Given the description of an element on the screen output the (x, y) to click on. 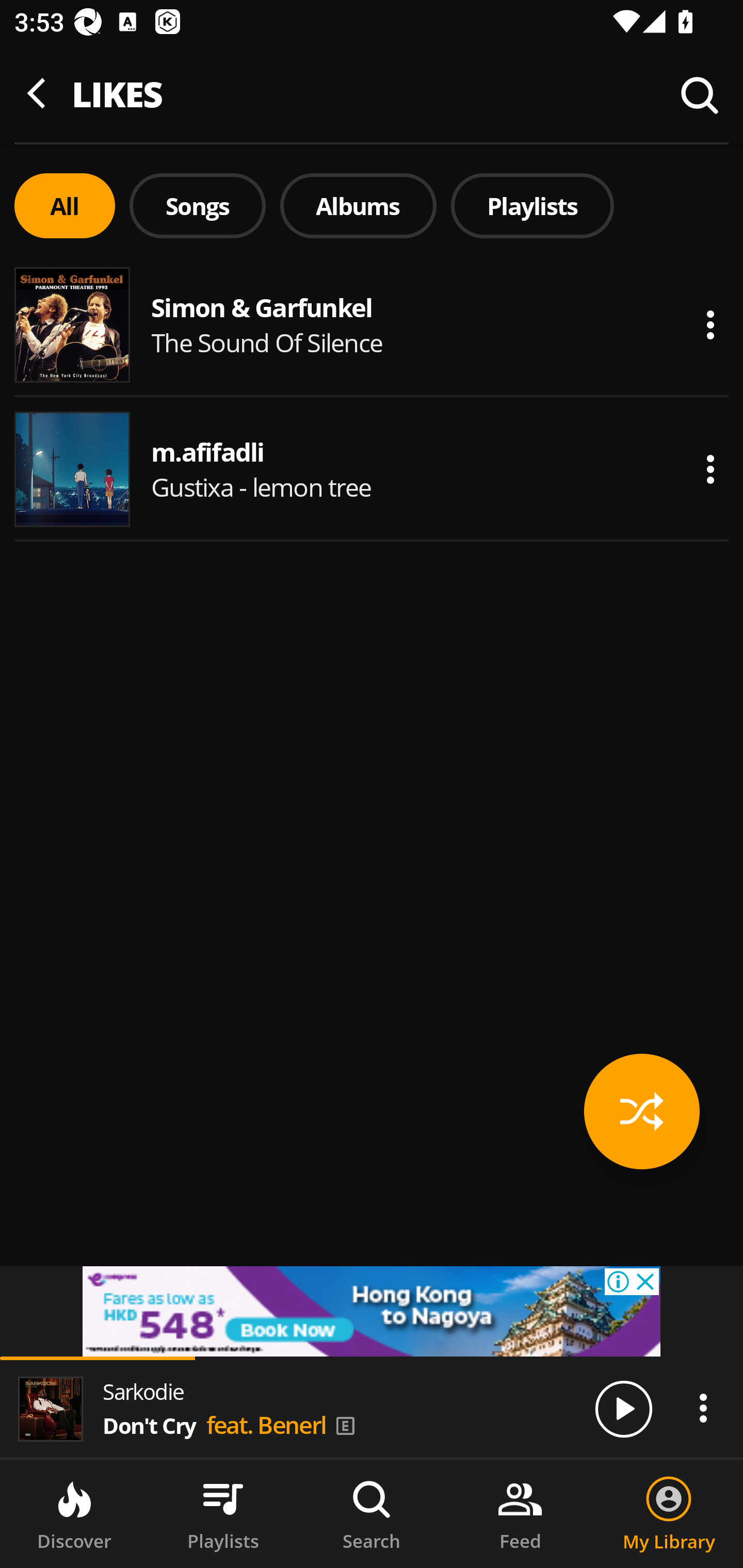
All (64, 206)
Songs (197, 206)
Albums (358, 206)
Playlists (532, 206)
Actions (710, 325)
Actions (710, 469)
accessibility_shuffle (641, 1111)
Advertisement (371, 1311)
Actions (703, 1407)
Play/Pause (623, 1408)
Discover (74, 1513)
Playlists (222, 1513)
Search (371, 1513)
Feed (519, 1513)
My Library (668, 1513)
